Given the description of an element on the screen output the (x, y) to click on. 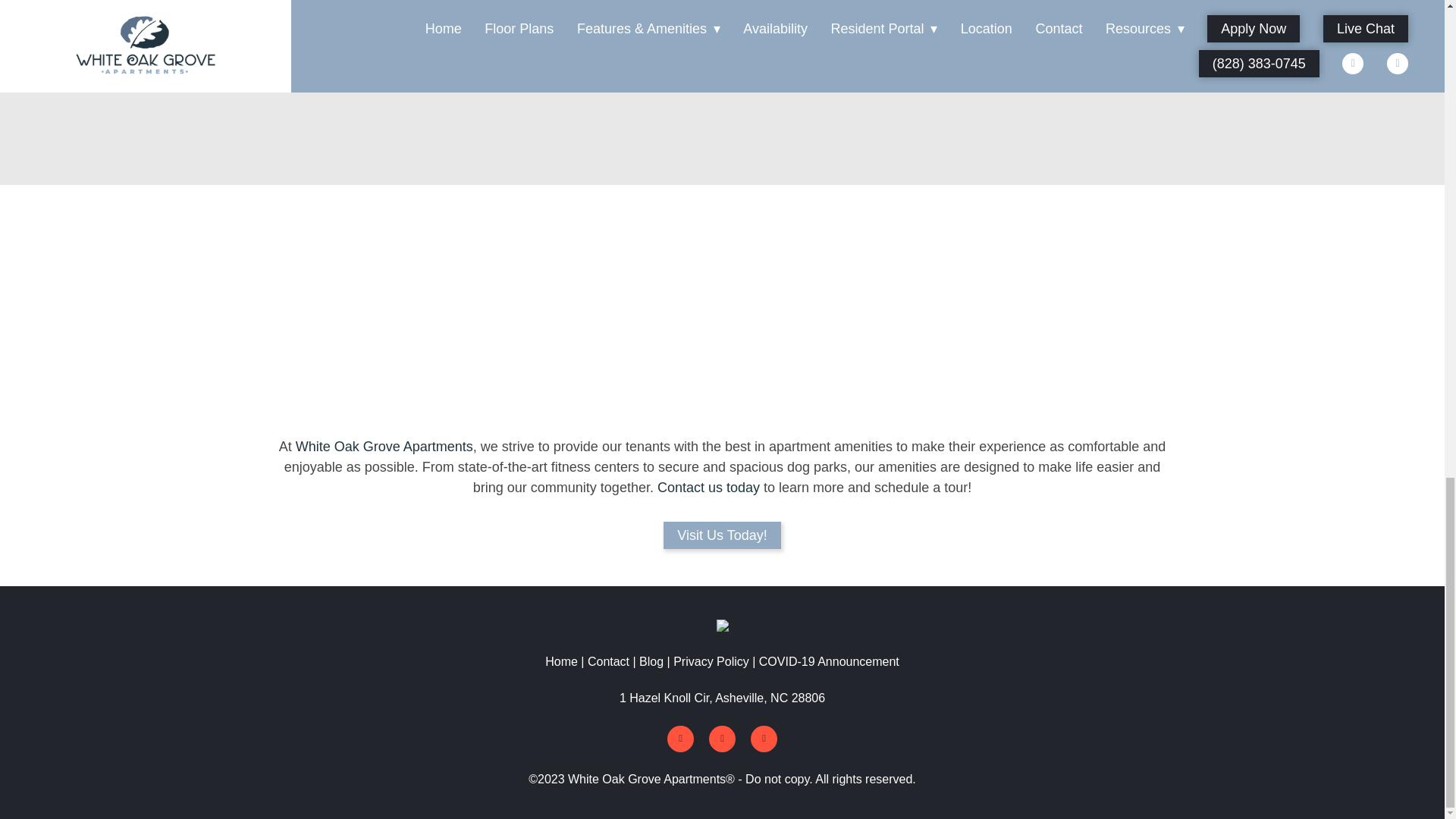
Blog (651, 661)
Visit Us Today! (721, 534)
Home (562, 661)
Contact (608, 661)
White Oak Grove Apartments (384, 446)
Privacy Policy (710, 661)
COVID-19 Announcement (828, 661)
Contact us today (709, 487)
